Given the description of an element on the screen output the (x, y) to click on. 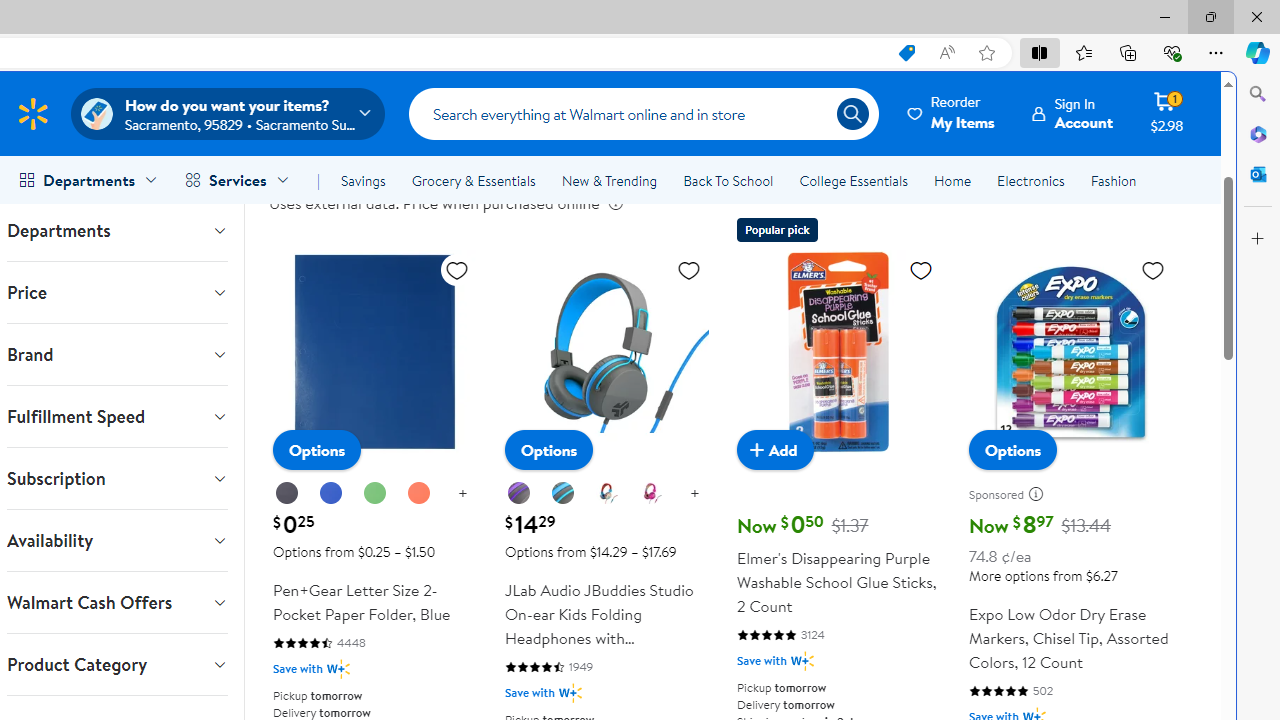
College Essentials (852, 180)
Walmart Homepage (32, 113)
legal information (615, 203)
Sign InAccount (1072, 113)
Pen+Gear Letter Size 2-Pocket Paper Folder, Blue (374, 352)
Graphite Purple (519, 494)
Electronics (1030, 180)
ReorderMy Items (952, 113)
show more color options (694, 494)
Options - Pen+Gear Letter Size 2-Pocket Paper Folder, Blue (317, 449)
Gray (563, 494)
Fashion (1113, 180)
